Given the description of an element on the screen output the (x, y) to click on. 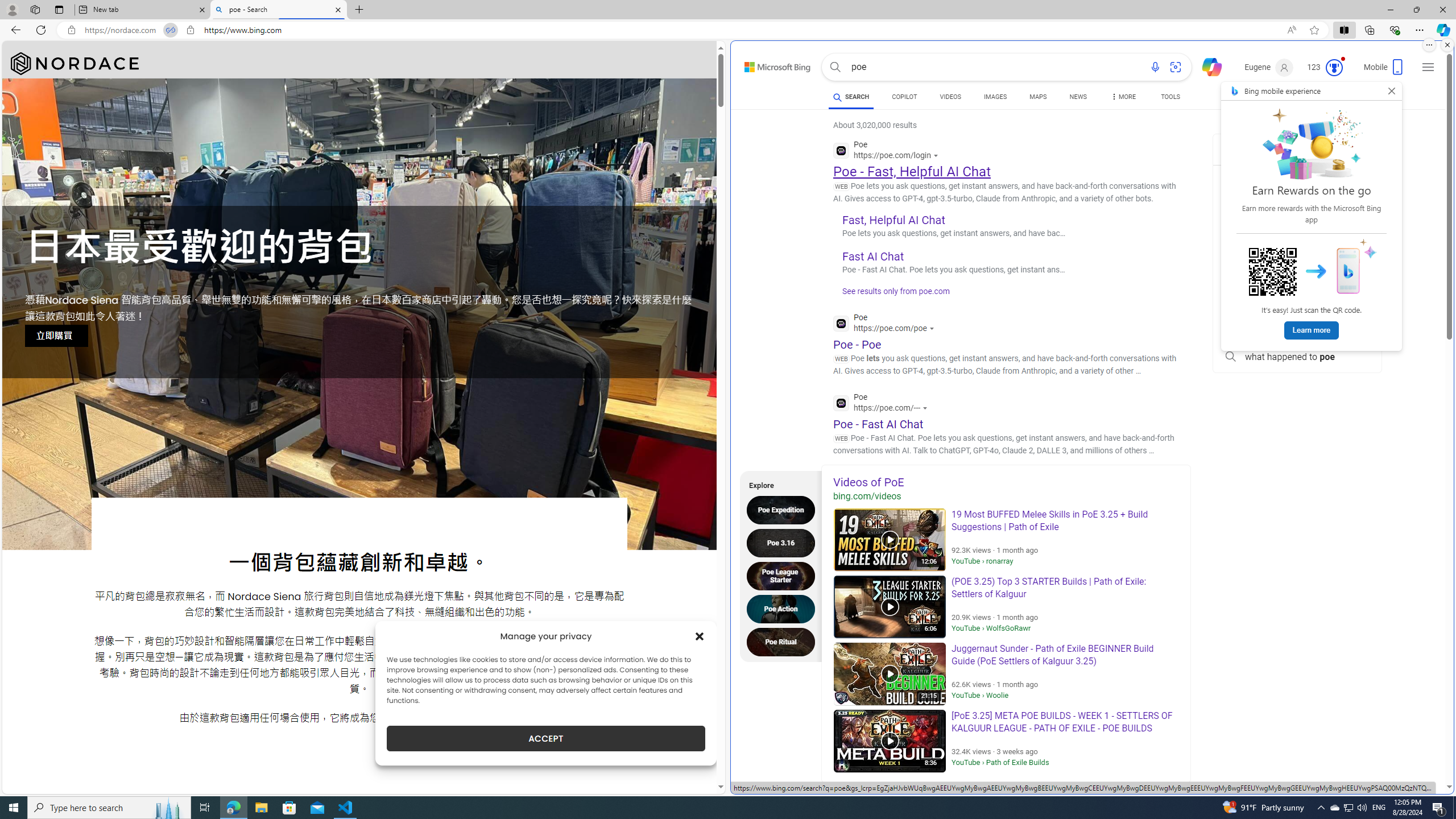
Poe Action (783, 608)
Dropdown Menu (1123, 96)
Fast, Helpful AI Chat (893, 219)
Microsoft Rewards 123 (1325, 67)
Search using voice (1154, 66)
COPILOT (903, 98)
Chat (1207, 65)
Poe 3.16 (783, 542)
Search button (835, 66)
Path of Exile (912, 803)
Poe - Fast AI Chat (877, 423)
Poe Expedition (783, 509)
